Given the description of an element on the screen output the (x, y) to click on. 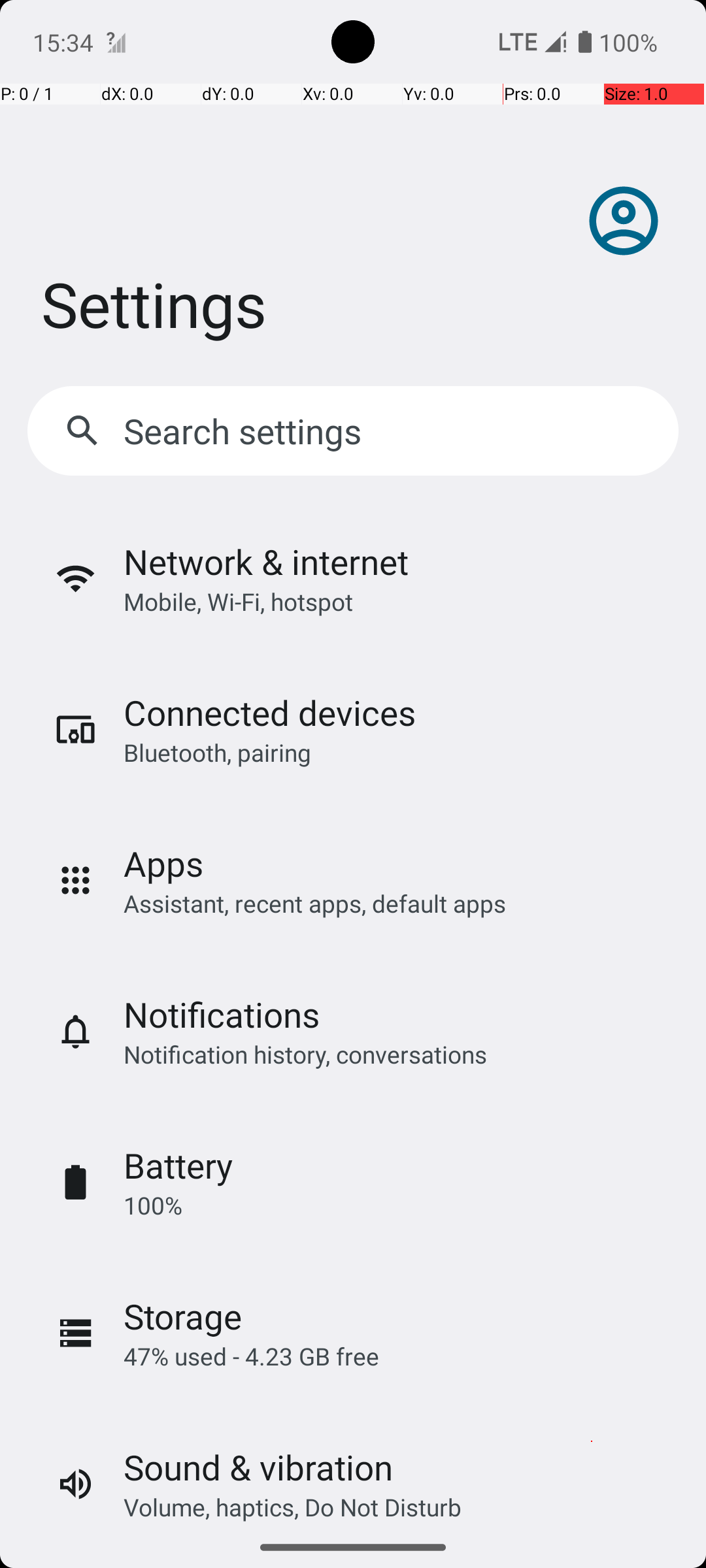
47% used - 4.23 GB free Element type: android.widget.TextView (251, 1355)
